Given the description of an element on the screen output the (x, y) to click on. 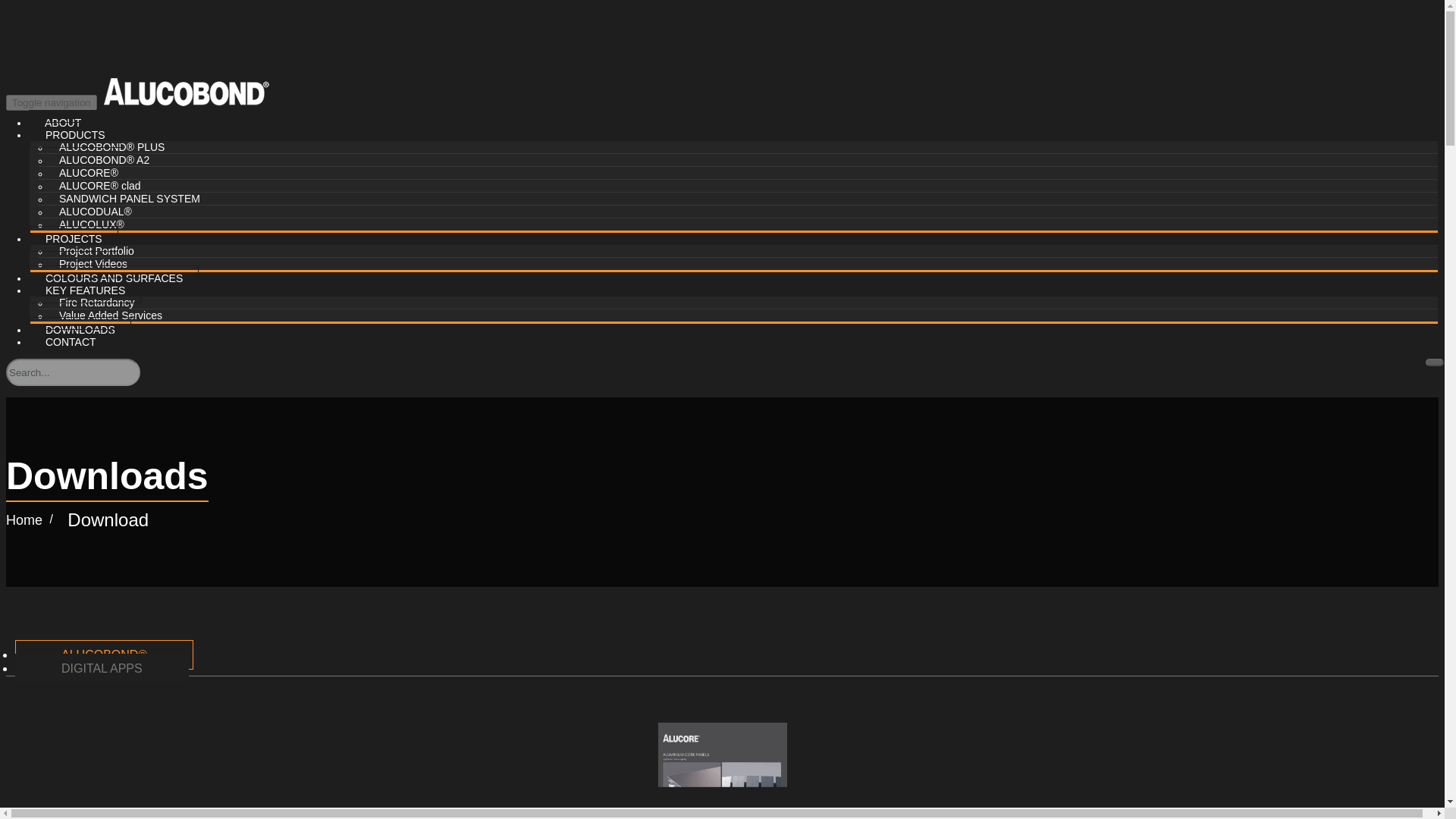
ABOUT (63, 122)
Fire Retardancy (96, 302)
PROJECTS (73, 238)
KEY FEATURES (85, 290)
Project Portfolio (95, 250)
DOWNLOADS (80, 329)
Project Videos (92, 263)
Value Added Services (110, 315)
Toggle navigation (51, 102)
CONTACT (70, 341)
DIGITAL APPS (101, 668)
PRODUCTS (74, 135)
Home (23, 520)
SANDWICH PANEL SYSTEM (129, 198)
COLOURS AND SURFACES (113, 278)
